Given the description of an element on the screen output the (x, y) to click on. 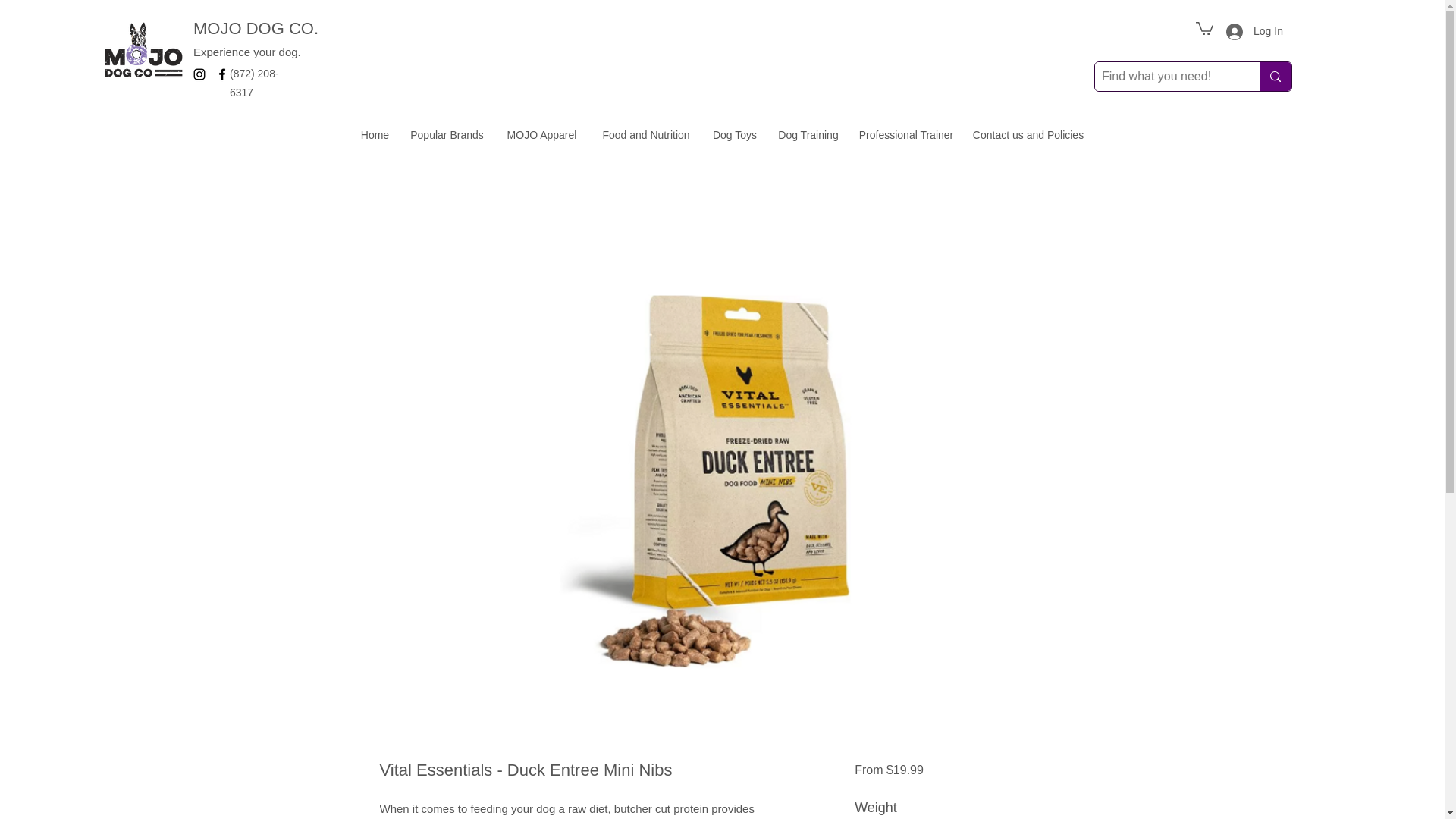
MOJO Apparel (542, 134)
Dog Training (808, 134)
Food and Nutrition (646, 134)
Home (375, 134)
Log In (1245, 31)
Contact us and Policies (1028, 134)
Dog Toys (734, 134)
Professional Trainer (905, 134)
